Given the description of an element on the screen output the (x, y) to click on. 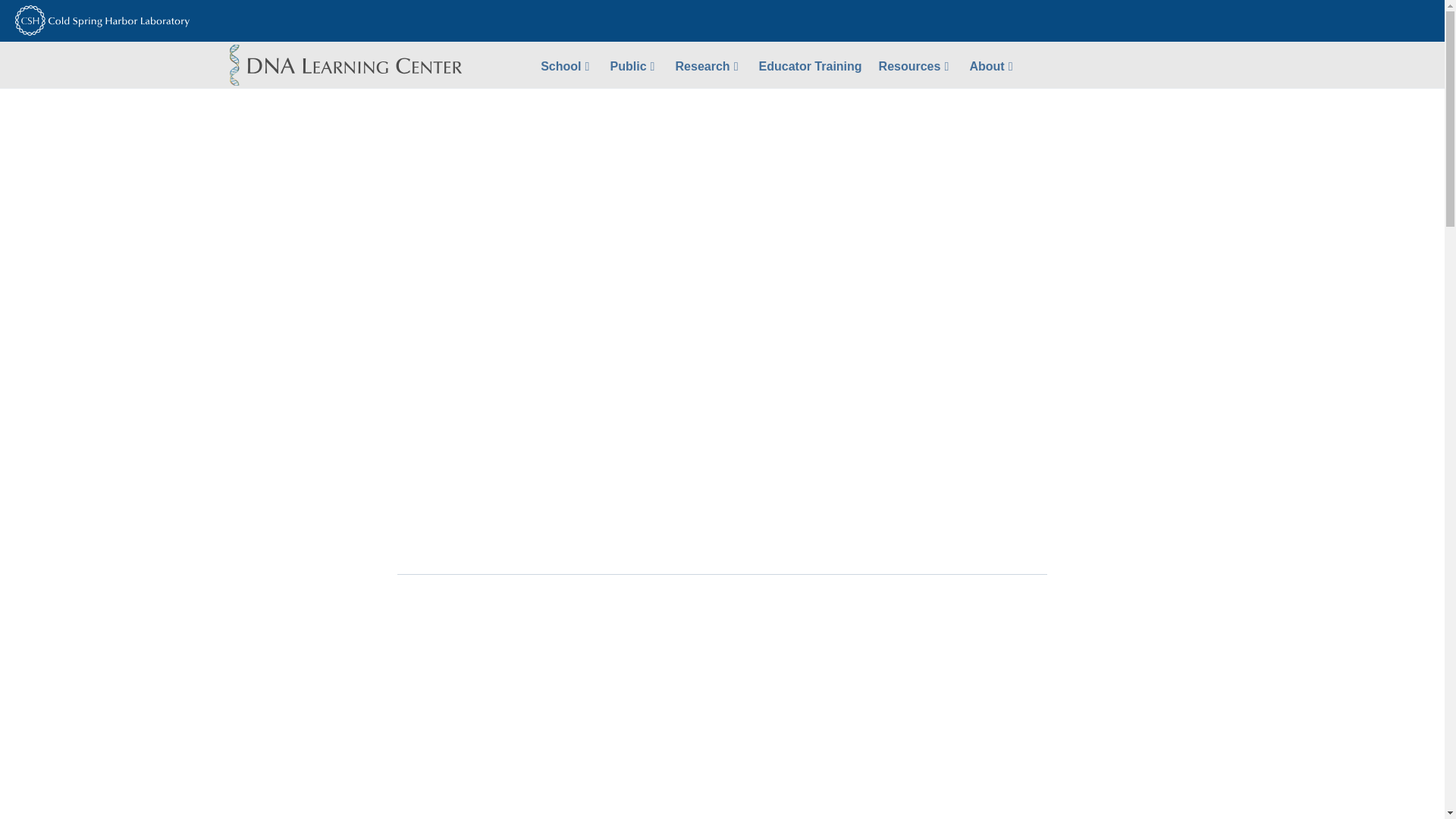
School (566, 65)
Public (634, 65)
Resources (915, 65)
About (992, 65)
Educator Training (810, 65)
Research (708, 65)
